Given the description of an element on the screen output the (x, y) to click on. 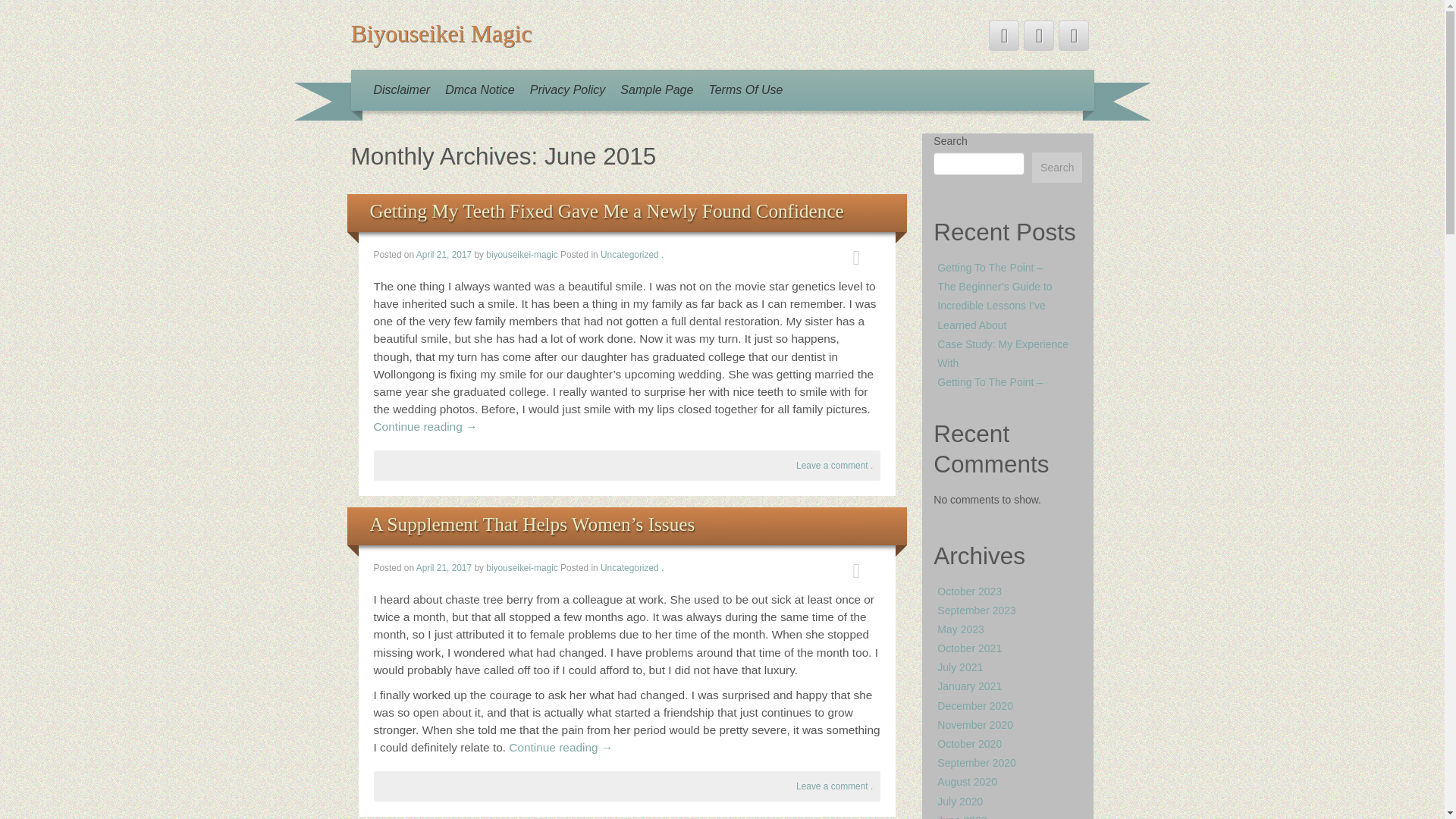
July 2021 (959, 666)
September 2020 (976, 762)
Uncategorized (629, 254)
View all posts by biyouseikei-magic (521, 254)
January 2021 (969, 686)
Biyouseikei Magic Facebook (1038, 35)
October 2021 (969, 648)
Biyouseikei Magic (440, 33)
October 2023 (969, 591)
Search (1056, 167)
